Given the description of an element on the screen output the (x, y) to click on. 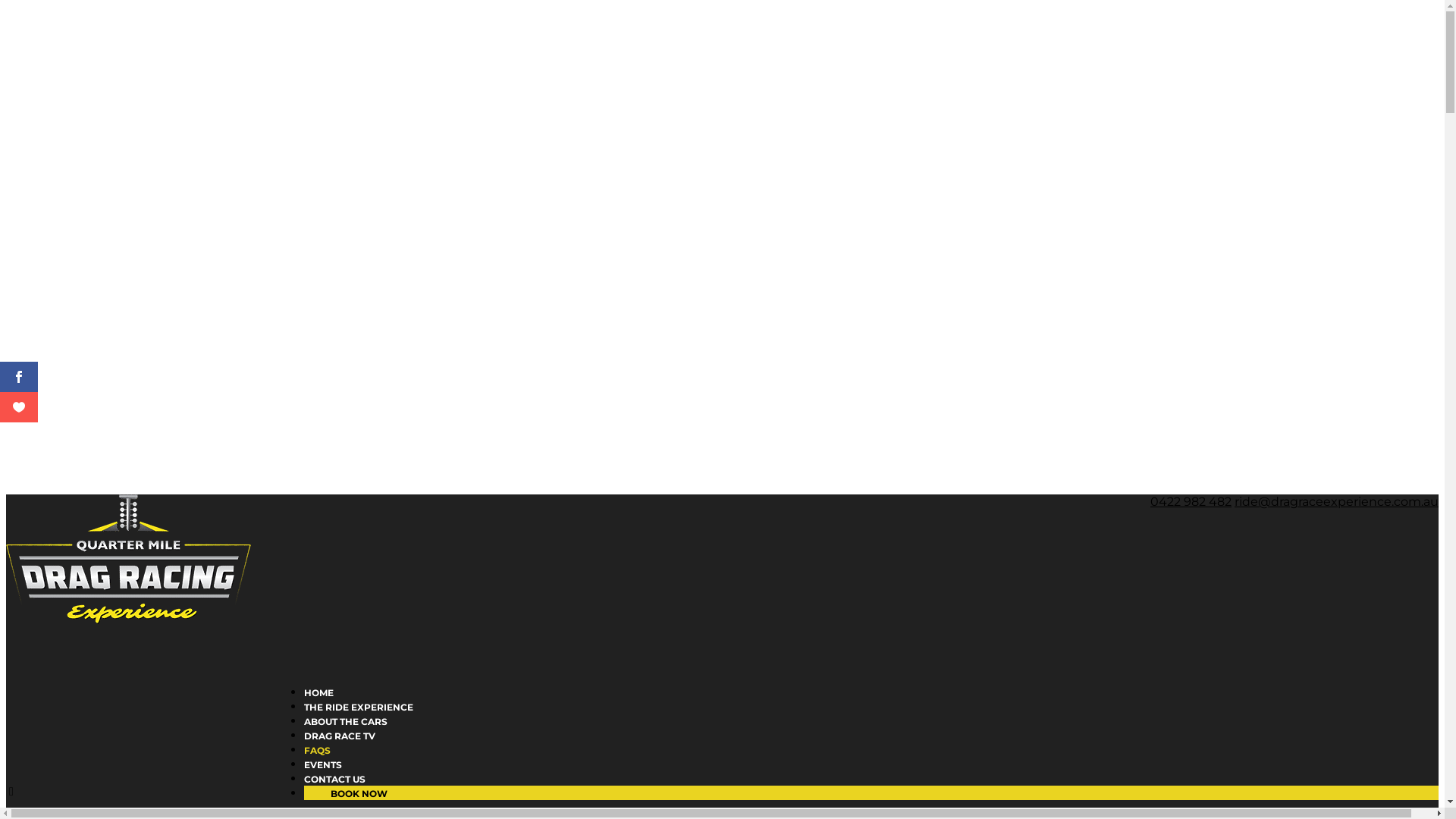
FAQS Element type: text (317, 772)
THE RIDE EXPERIENCE Element type: text (358, 729)
DRAG RACE TV Element type: text (339, 758)
HOME Element type: text (318, 715)
0422 982 482 Element type: text (1190, 501)
ABOUT THE CARS Element type: text (345, 743)
ride@dragraceexperience.com.au Element type: text (1336, 501)
EVENTS Element type: text (323, 787)
BOOK NOW Element type: text (351, 793)
